Given the description of an element on the screen output the (x, y) to click on. 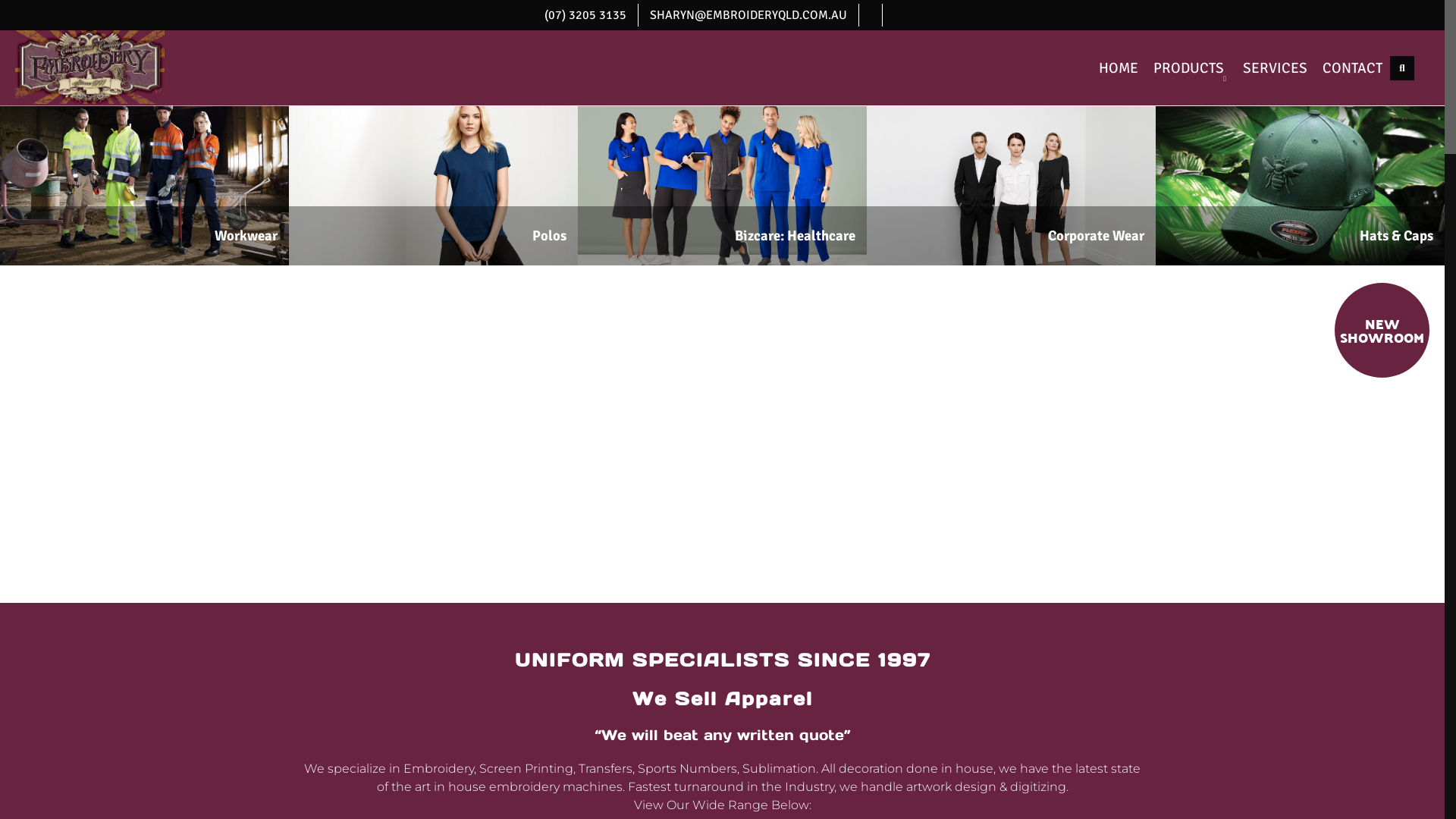
SERVICES Element type: text (1274, 68)
PRODUCTS Element type: text (1190, 68)
SHARYN@EMBROIDERYQLD.COM.AU Element type: text (747, 15)
(07) 3205 3135 Element type: text (585, 15)
HOME Element type: text (1118, 68)
Search Element type: text (1369, 68)
CONTACT Element type: text (1352, 68)
